Given the description of an element on the screen output the (x, y) to click on. 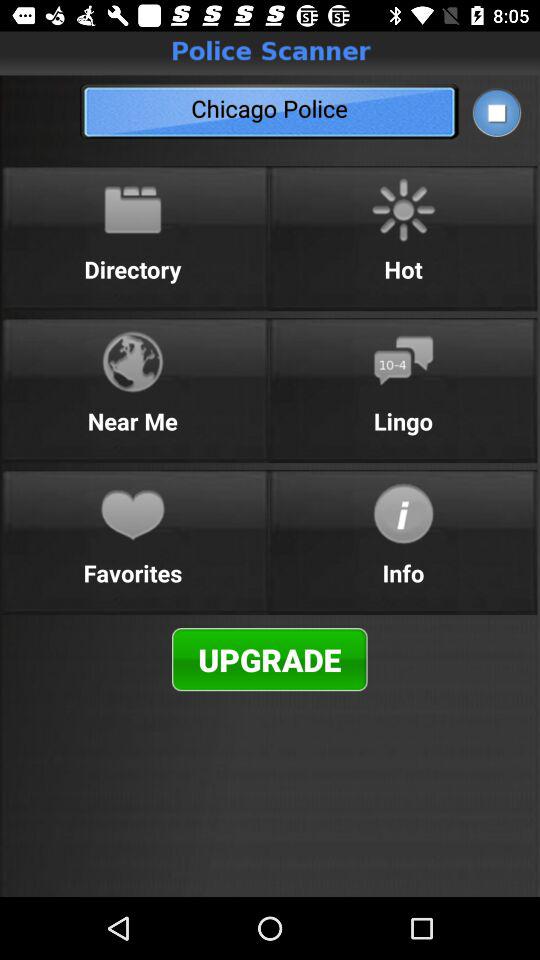
stop scan (496, 111)
